Given the description of an element on the screen output the (x, y) to click on. 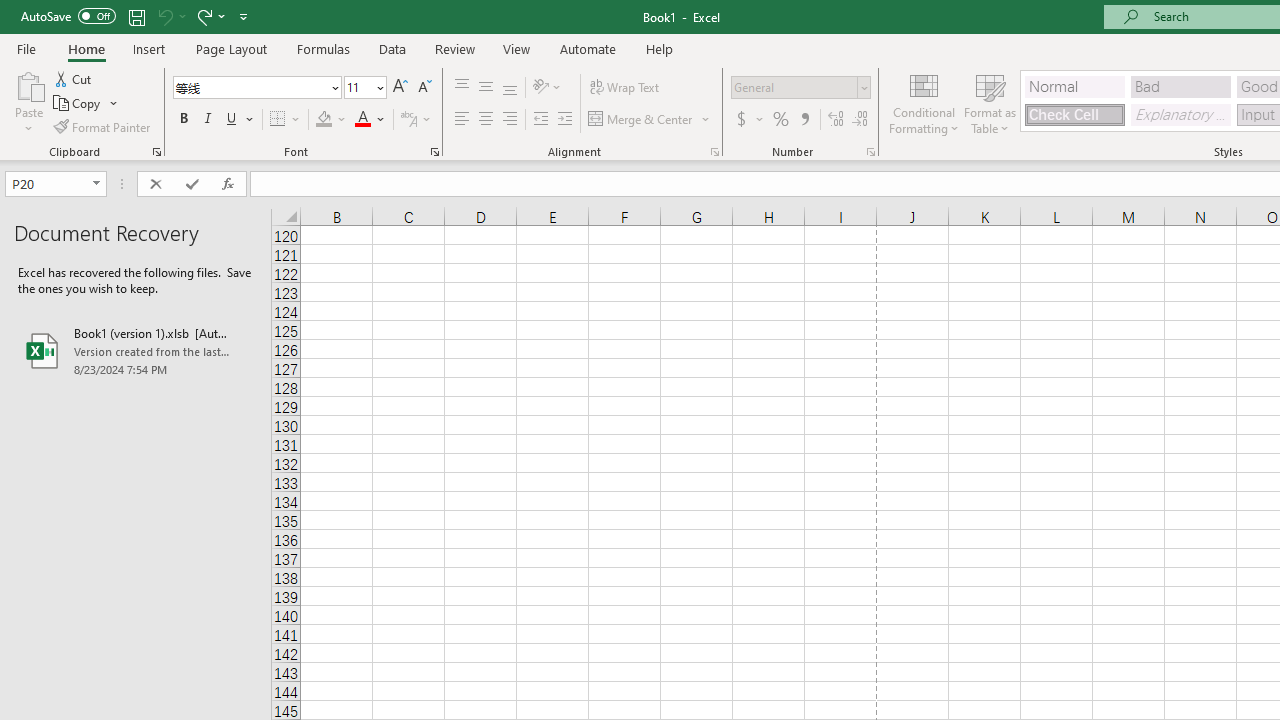
Font Color (370, 119)
Format Cell Alignment (714, 151)
Comma Style (804, 119)
Accounting Number Format (749, 119)
Percent Style (781, 119)
Office Clipboard... (156, 151)
Align Left (461, 119)
Check Cell (1074, 114)
Bottom Border (278, 119)
Borders (285, 119)
Show Phonetic Field (416, 119)
